Given the description of an element on the screen output the (x, y) to click on. 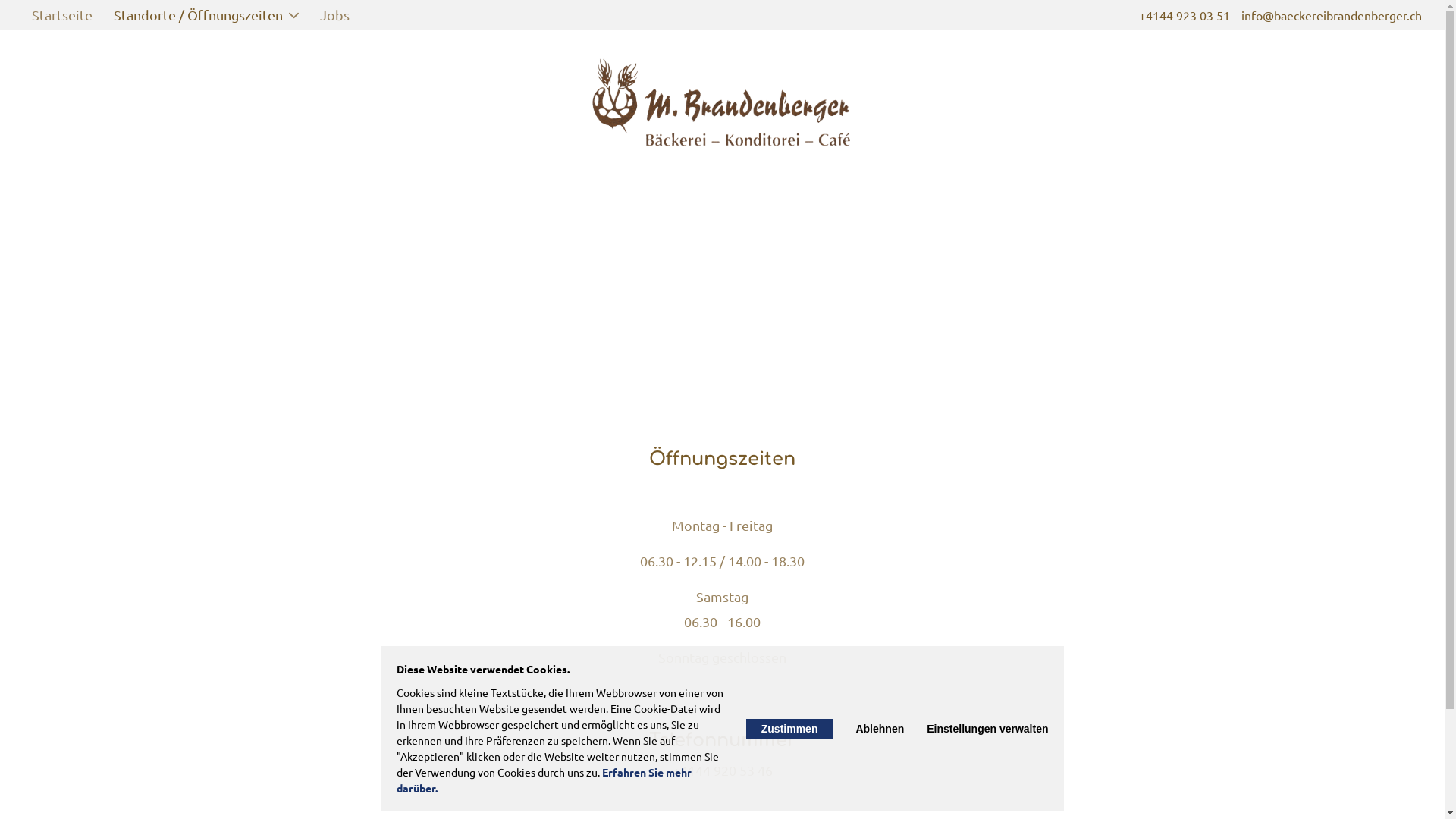
Ablehnen Element type: text (879, 728)
Einstellungen verwalten Element type: text (987, 728)
Zustimmen Element type: text (789, 728)
Jobs Element type: text (334, 15)
info@baeckereibrandenberger.ch Element type: text (1331, 14)
+4144 923 03 51 Element type: text (1184, 14)
Startseite Element type: text (61, 15)
